Given the description of an element on the screen output the (x, y) to click on. 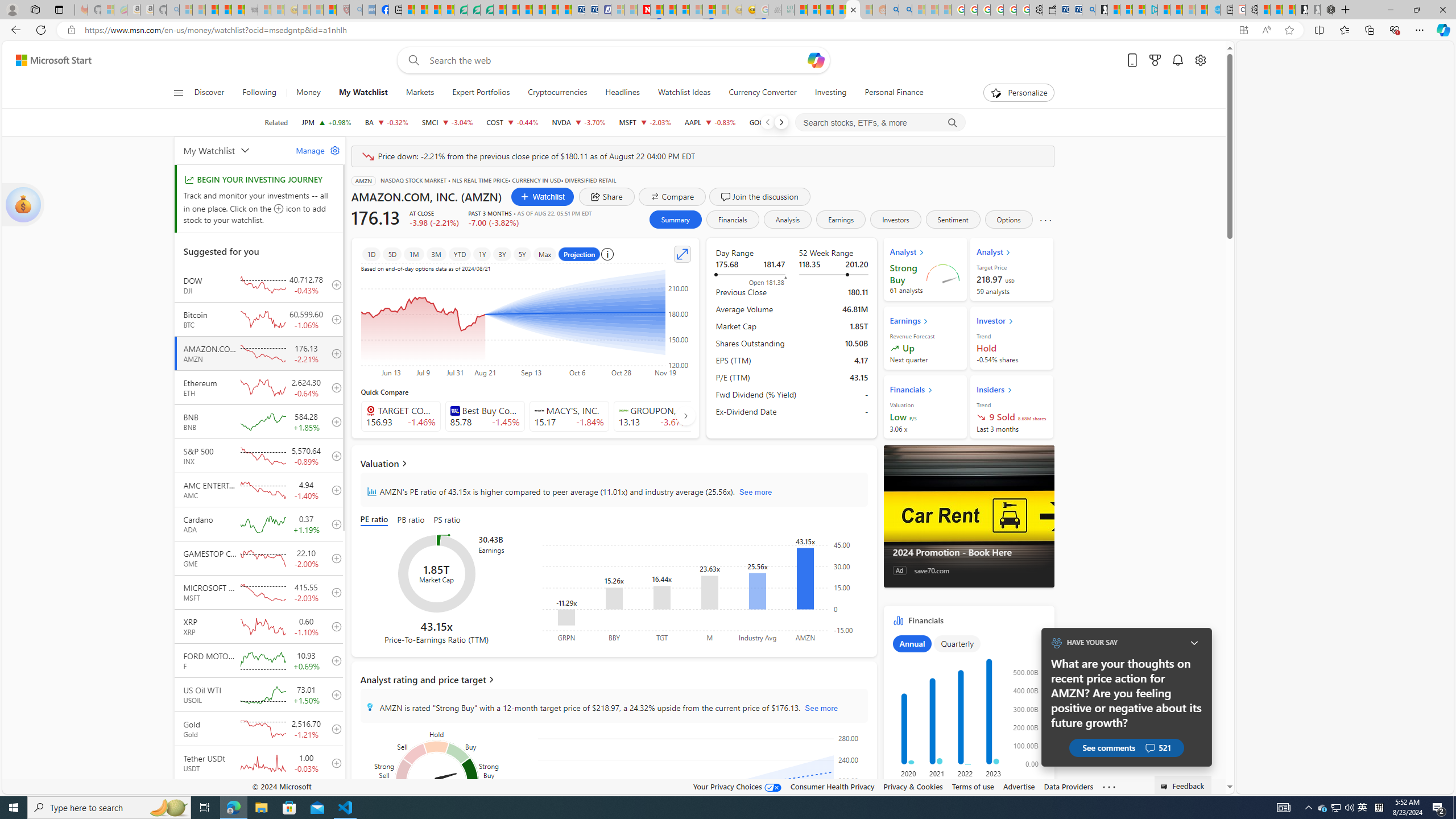
Personal Finance (889, 92)
